Given the description of an element on the screen output the (x, y) to click on. 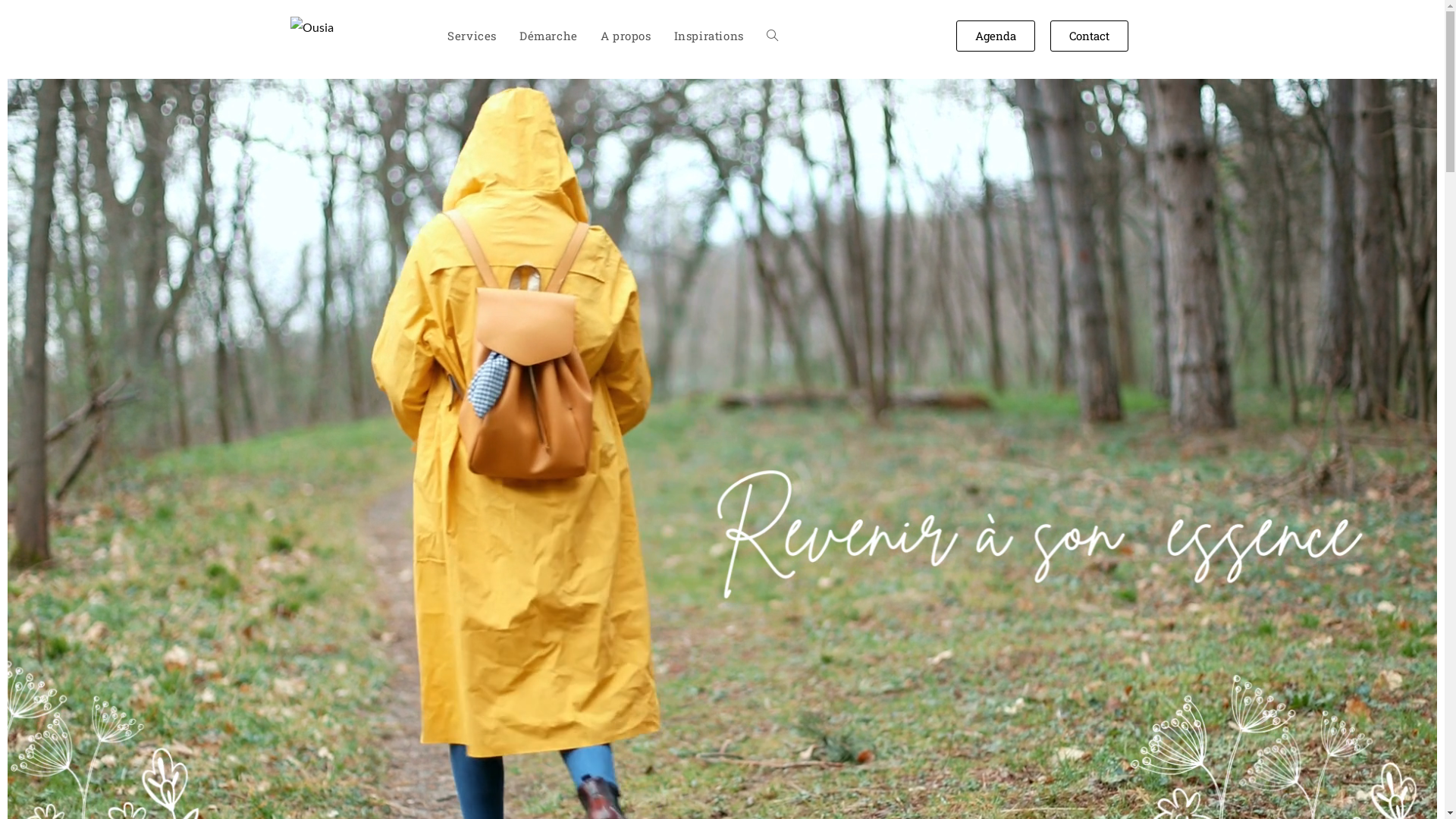
Services Element type: text (472, 35)
Inspirations Element type: text (708, 35)
A propos Element type: text (625, 35)
Agenda Element type: text (995, 34)
Contact Element type: text (1089, 34)
